Given the description of an element on the screen output the (x, y) to click on. 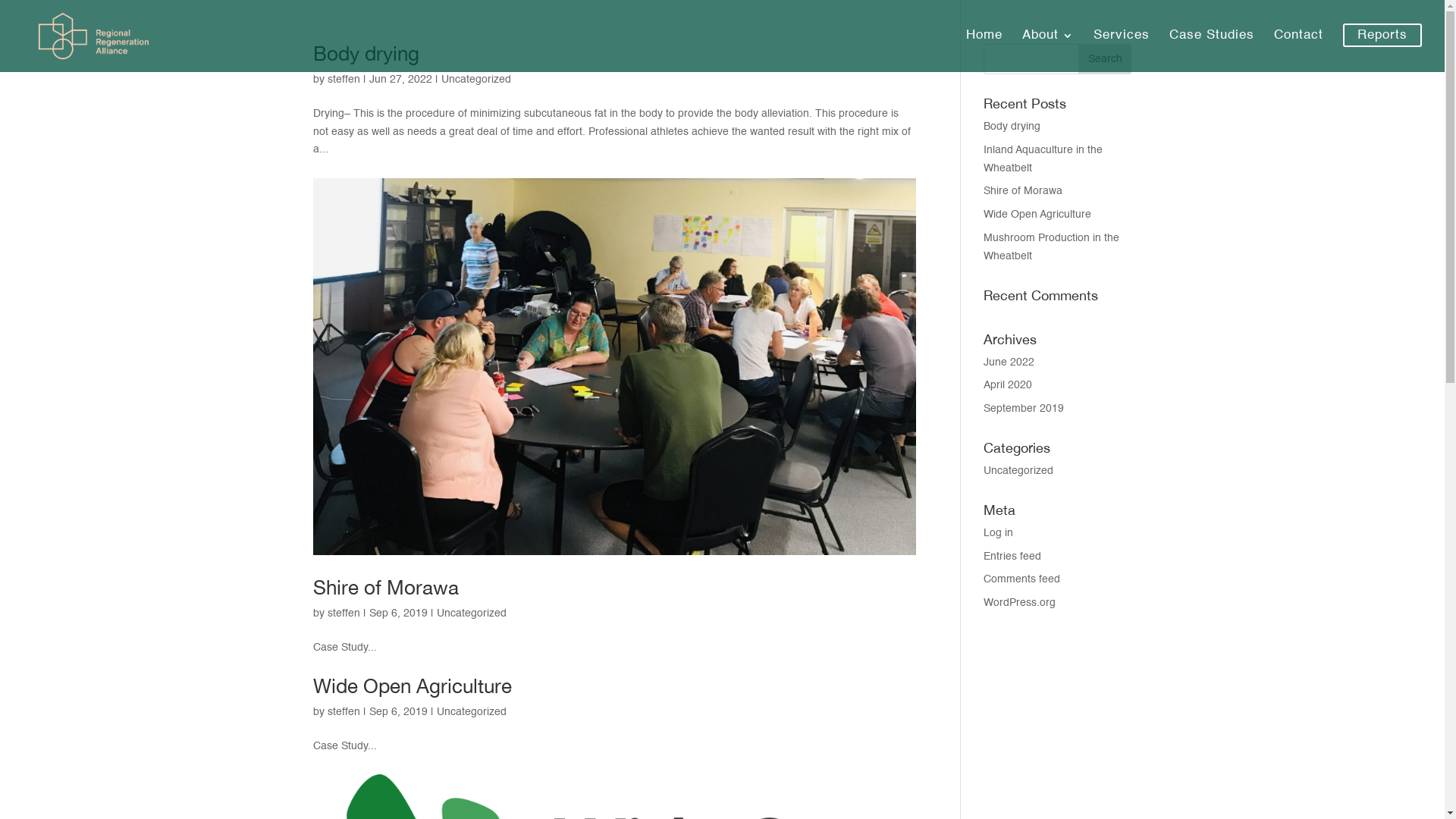
Uncategorized Element type: text (471, 613)
Body drying Element type: text (1011, 126)
Home Element type: text (984, 47)
Wide Open Agriculture Element type: text (1037, 214)
Case Studies Element type: text (1211, 47)
Shire of Morawa Element type: text (1022, 190)
Inland Aquaculture in the Wheatbelt Element type: text (1042, 158)
Services Element type: text (1121, 47)
Entries feed Element type: text (1012, 556)
Body drying Element type: text (365, 53)
About Element type: text (1047, 47)
Log in Element type: text (998, 532)
Wide Open Agriculture Element type: text (411, 685)
Reports Element type: text (1382, 48)
steffen Element type: text (343, 613)
June 2022 Element type: text (1008, 362)
Uncategorized Element type: text (1018, 470)
Uncategorized Element type: text (476, 79)
steffen Element type: text (343, 711)
Shire of Morawa Element type: text (385, 587)
WordPress.org Element type: text (1019, 602)
Comments feed Element type: text (1021, 579)
Mushroom Production in the Wheatbelt Element type: text (1051, 246)
Search Element type: text (1104, 58)
Uncategorized Element type: text (471, 711)
steffen Element type: text (343, 79)
Contact Element type: text (1298, 47)
April 2020 Element type: text (1007, 384)
September 2019 Element type: text (1023, 408)
